Given the description of an element on the screen output the (x, y) to click on. 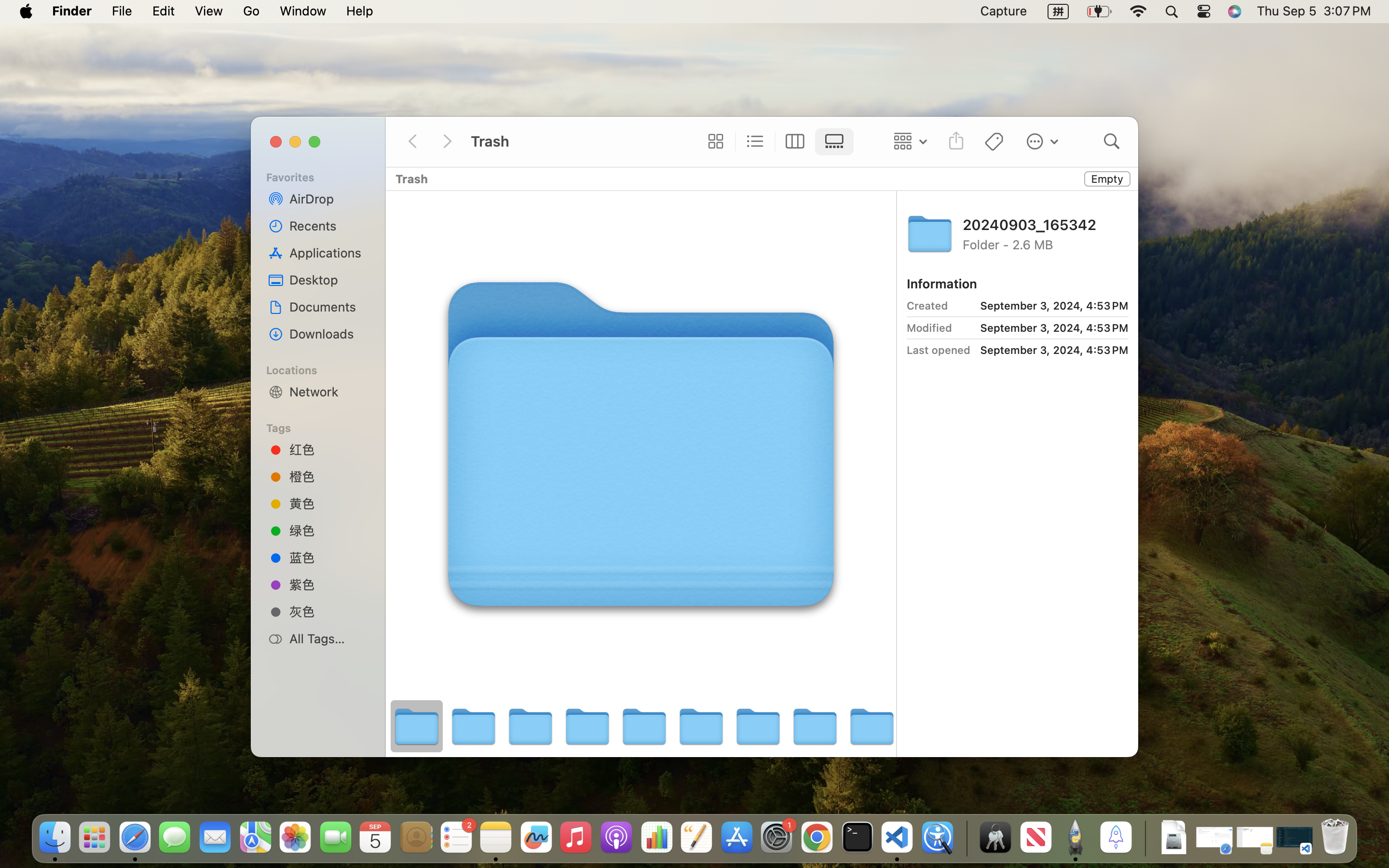
红色 Element type: AXStaticText (328, 449)
Information Element type: AXStaticText (941, 283)
Downloads Element type: AXStaticText (328, 333)
Last opened Element type: AXStaticText (938, 349)
Locations Element type: AXStaticText (323, 368)
